Given the description of an element on the screen output the (x, y) to click on. 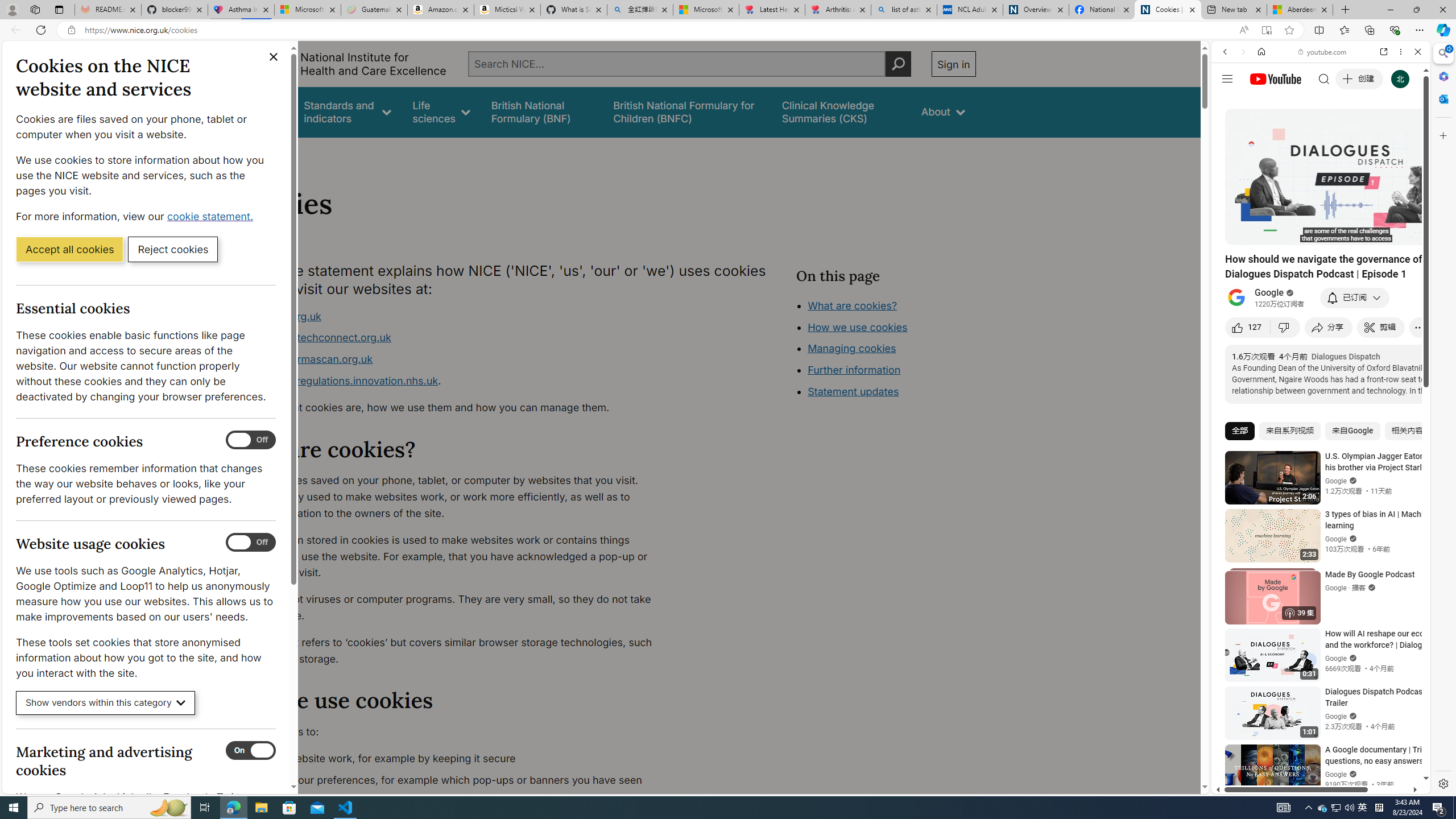
Marketing and advertising cookies (250, 750)
Reject cookies (173, 248)
www.ukpharmascan.org.uk (452, 359)
Asthma Inhalers: Names and Types (240, 9)
youtube.com (1322, 51)
Guidance (260, 111)
Accept all cookies (69, 248)
